Given the description of an element on the screen output the (x, y) to click on. 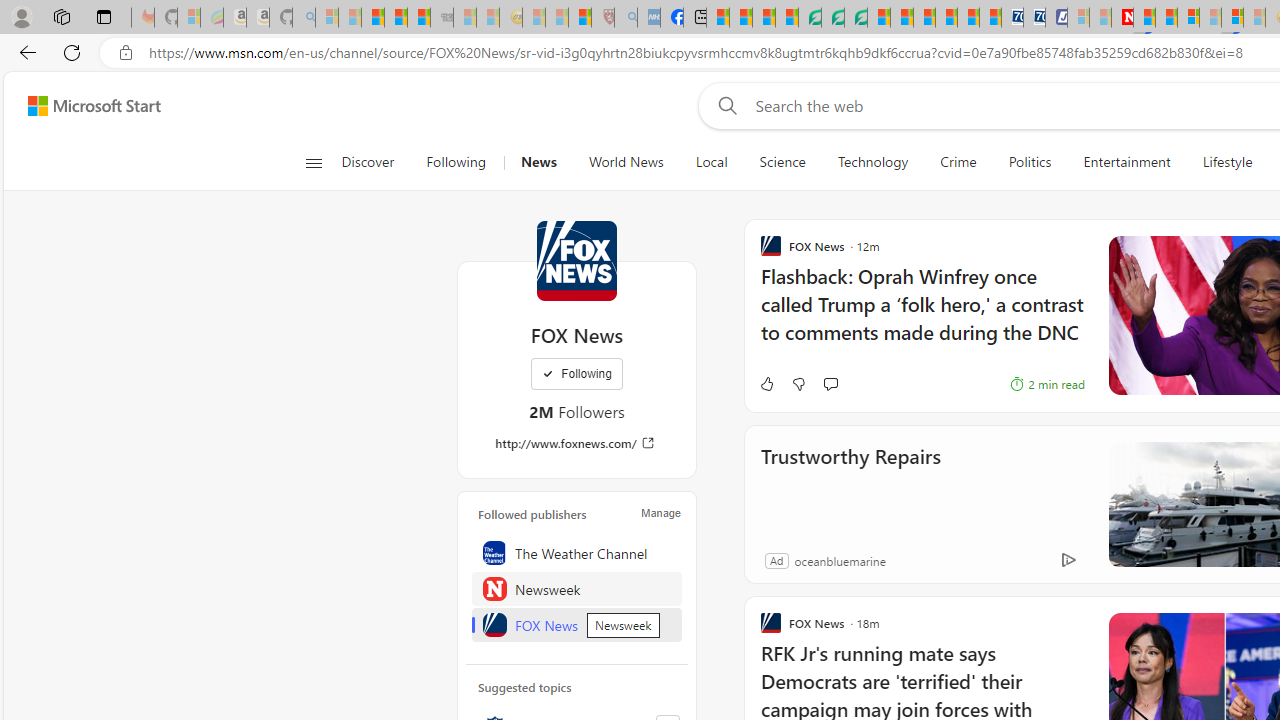
Microsoft Word - consumer-privacy address update 2.2021 (855, 17)
Terms of Use Agreement (832, 17)
http://www.foxnews.com/ (576, 443)
oceanbluemarine (839, 560)
LendingTree - Compare Lenders (809, 17)
